Given the description of an element on the screen output the (x, y) to click on. 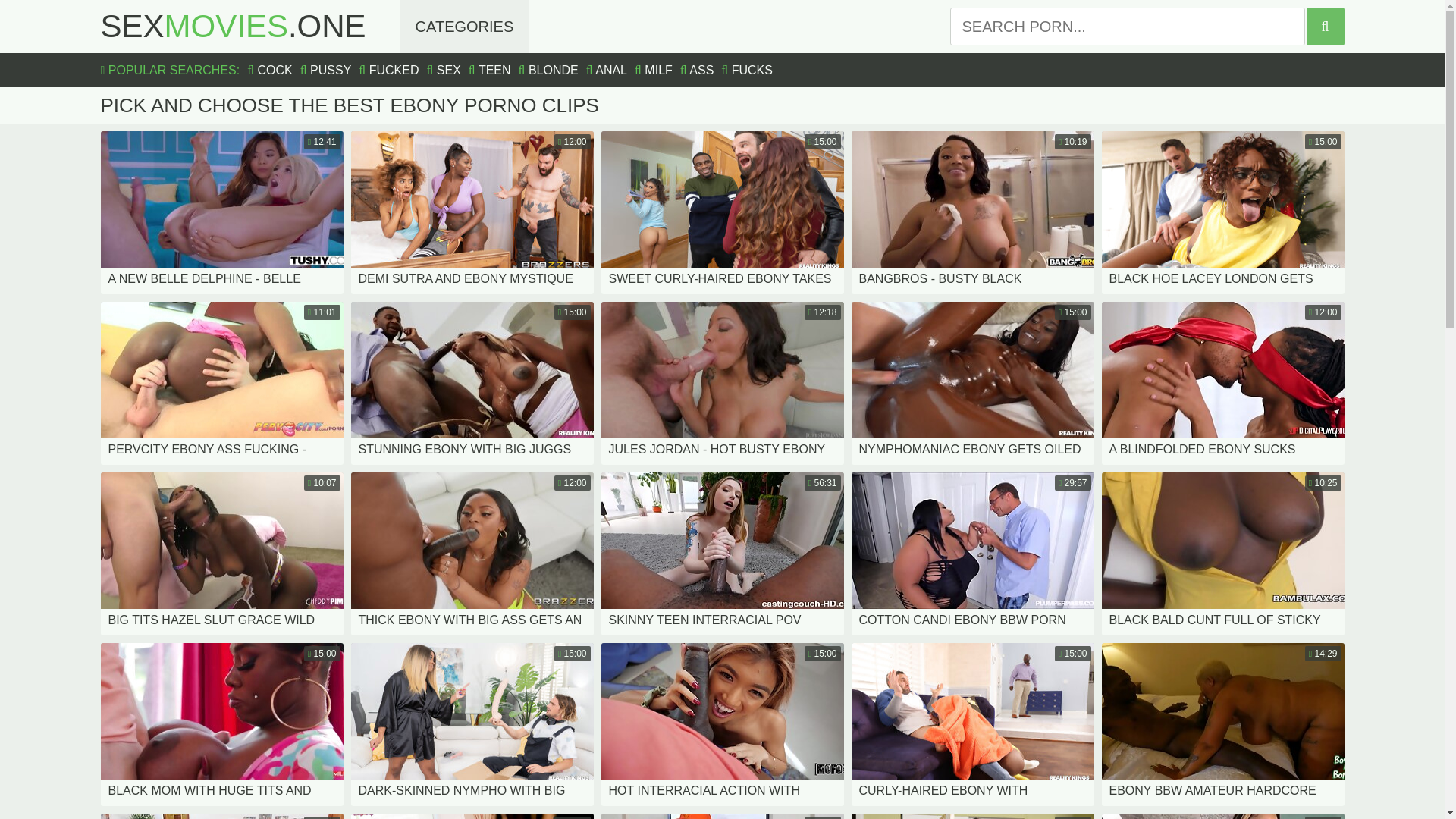
Find (1221, 816)
Hot interracial action with Clara Trinity (1324, 26)
Curly-haired ebony with glasses gets deeply fucked (971, 383)
PUSSY (221, 723)
Nymphomaniac ebony gets oiled up and fucked balls deep (721, 816)
TEEN (721, 723)
Skinny teen interracial POV porn video (971, 723)
